Given the description of an element on the screen output the (x, y) to click on. 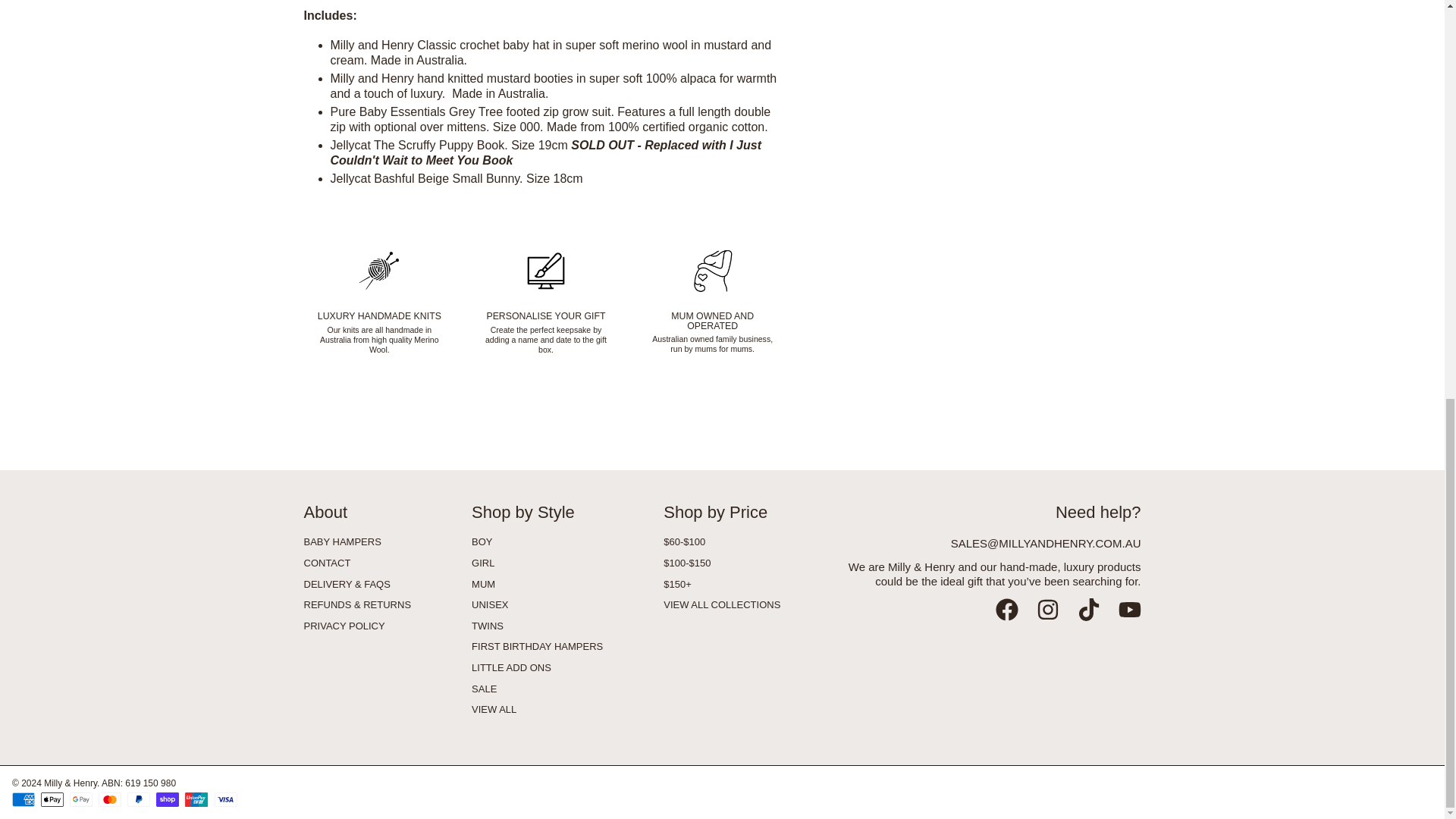
Google Pay (81, 799)
Union Pay (196, 799)
Visa (225, 799)
Shop Pay (167, 799)
PayPal (138, 799)
American Express (22, 799)
Apple Pay (52, 799)
Mastercard (109, 799)
